Given the description of an element on the screen output the (x, y) to click on. 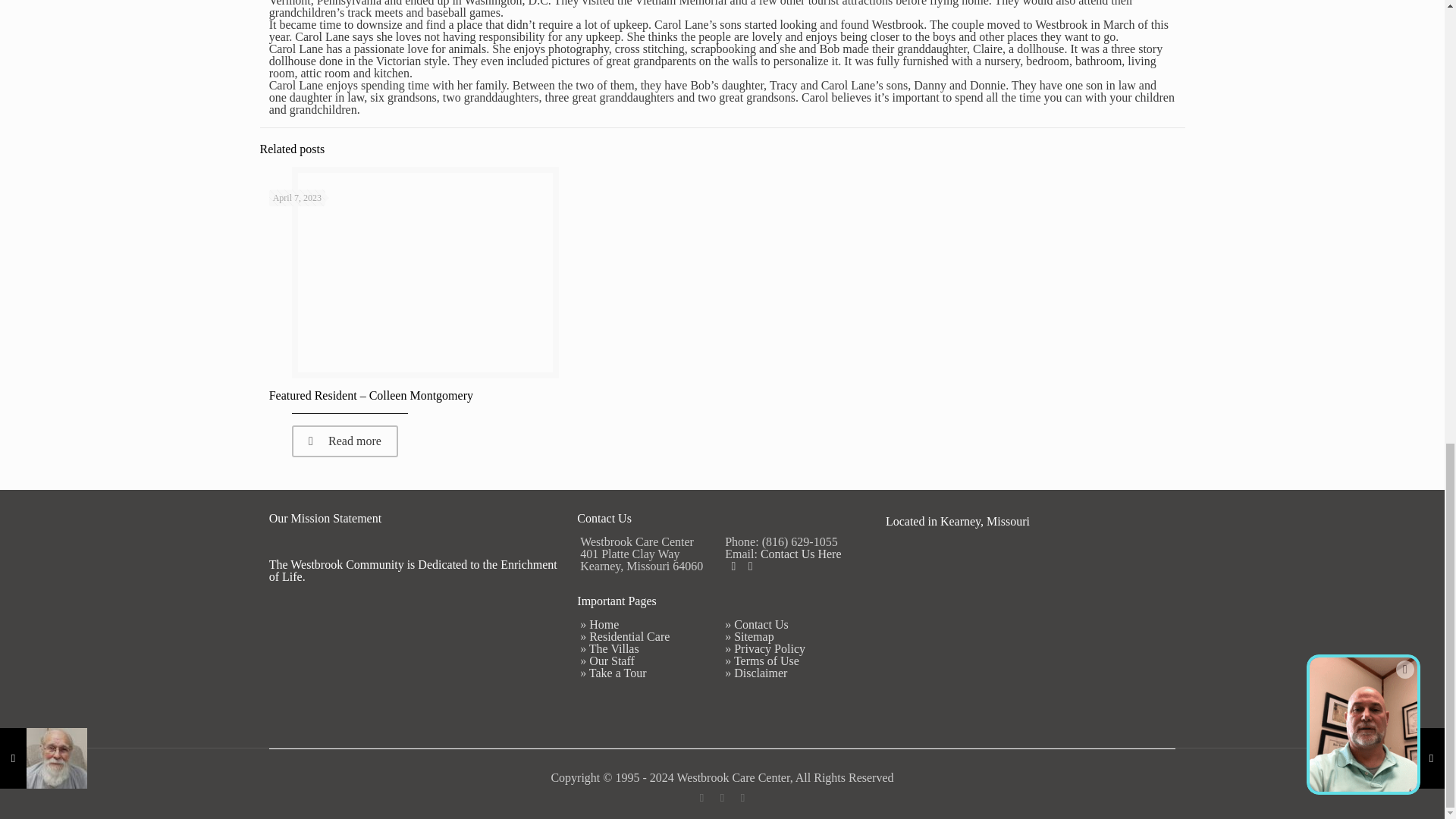
Contact Us Here (800, 553)
Twitter (722, 797)
Twitter (750, 565)
Read more (344, 441)
Home (603, 624)
RSS (743, 797)
Facebook (702, 797)
Facebook (733, 565)
